Given the description of an element on the screen output the (x, y) to click on. 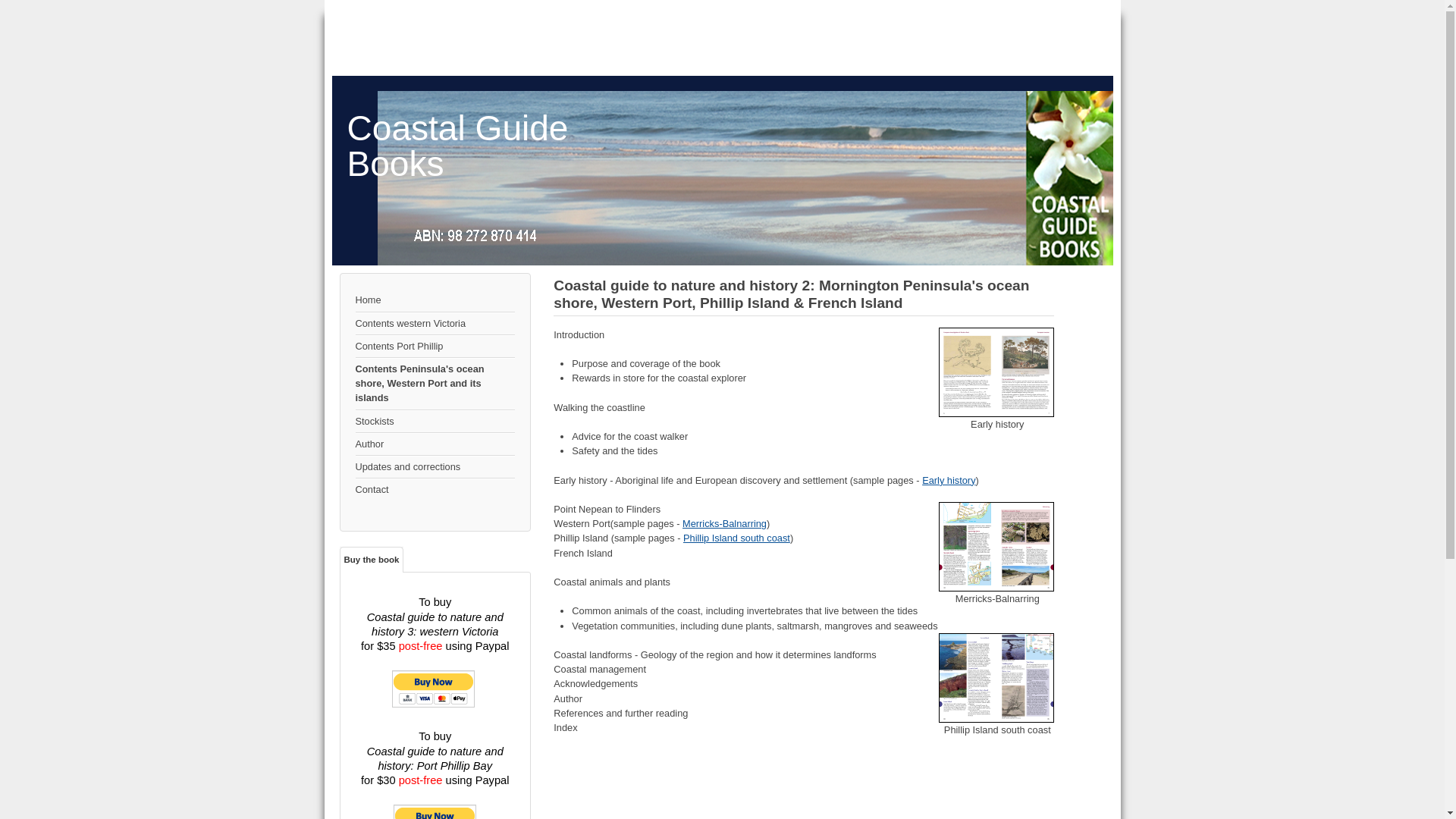
Contents Port Phillip Element type: text (434, 346)
Updates and corrections Element type: text (434, 466)
Phillip Island south coast Element type: text (736, 537)
Merricks-Balnarring Element type: hover (996, 546)
Early history Element type: text (948, 480)
Contents western Victoria Element type: text (434, 323)
Buy the book Element type: text (371, 559)
Home Element type: text (434, 299)
Stockists Element type: text (434, 421)
Author Element type: text (434, 444)
Early history Element type: hover (996, 372)
Contact Element type: text (434, 489)
Phillip Island south coast Element type: hover (996, 677)
Merricks-Balnarring Element type: text (724, 523)
